Given the description of an element on the screen output the (x, y) to click on. 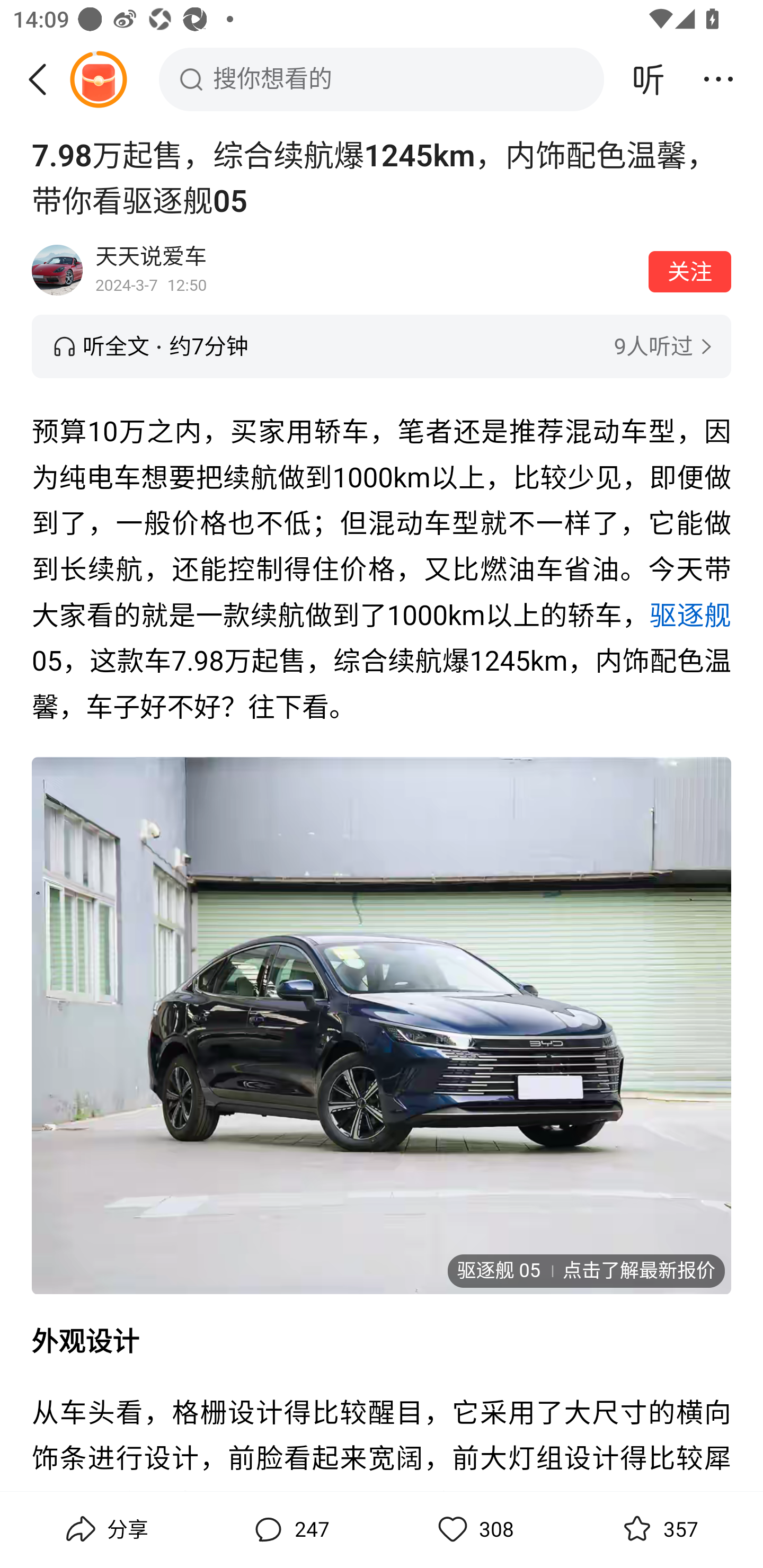
返回 (44, 78)
听头条 (648, 78)
更多操作 (718, 78)
搜你想看的 搜索框，搜你想看的 (381, 79)
阅读赚金币 (98, 79)
作者：天天说爱车，2024-3-7 12:50发布 (365, 270)
关注作者 (689, 270)
听全文 约7分钟 9人听过 (381, 346)
驱逐舰 (689, 614)
驱逐舰 05  点击了解最新报价 驱逐舰 05点击了解最新报价 (381, 1025)
驱逐舰 05点击了解最新报价 (585, 1271)
分享 (104, 1529)
评论,247 247 (288, 1529)
收藏,357 357 (658, 1529)
